Given the description of an element on the screen output the (x, y) to click on. 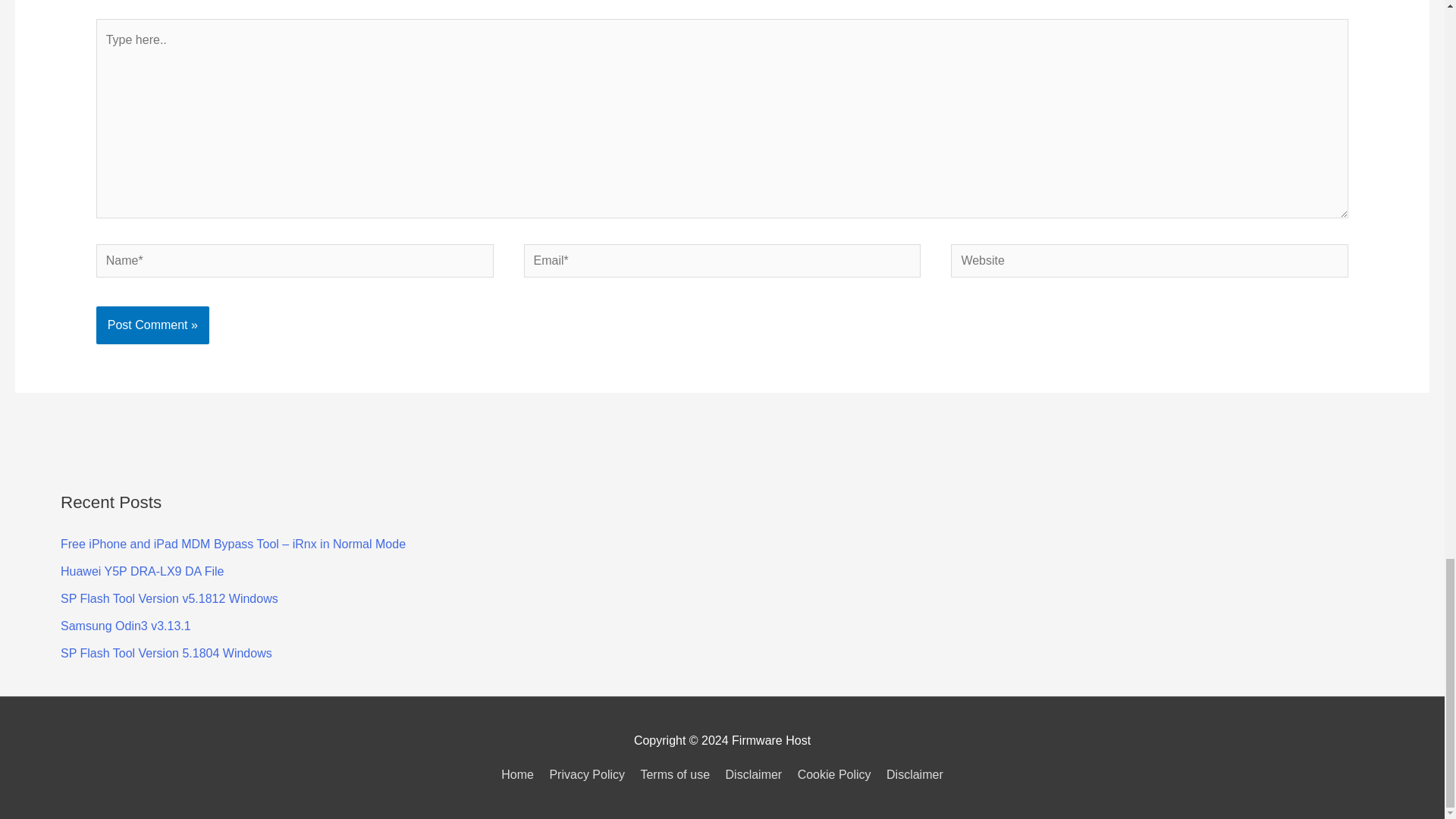
Huawei Y5P DRA-LX9 DA File (142, 571)
